Given the description of an element on the screen output the (x, y) to click on. 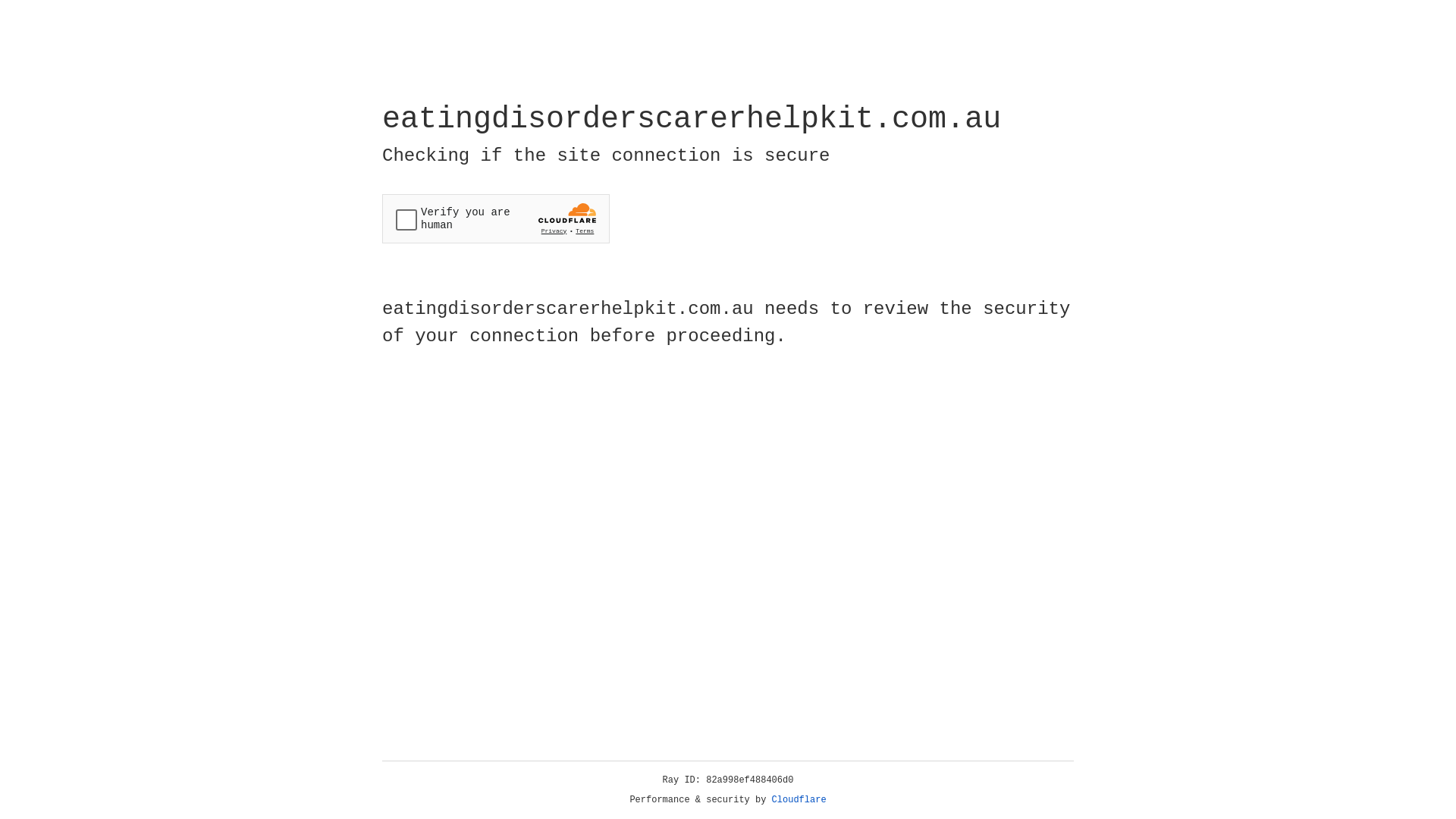
Cloudflare Element type: text (798, 799)
Widget containing a Cloudflare security challenge Element type: hover (495, 218)
